Given the description of an element on the screen output the (x, y) to click on. 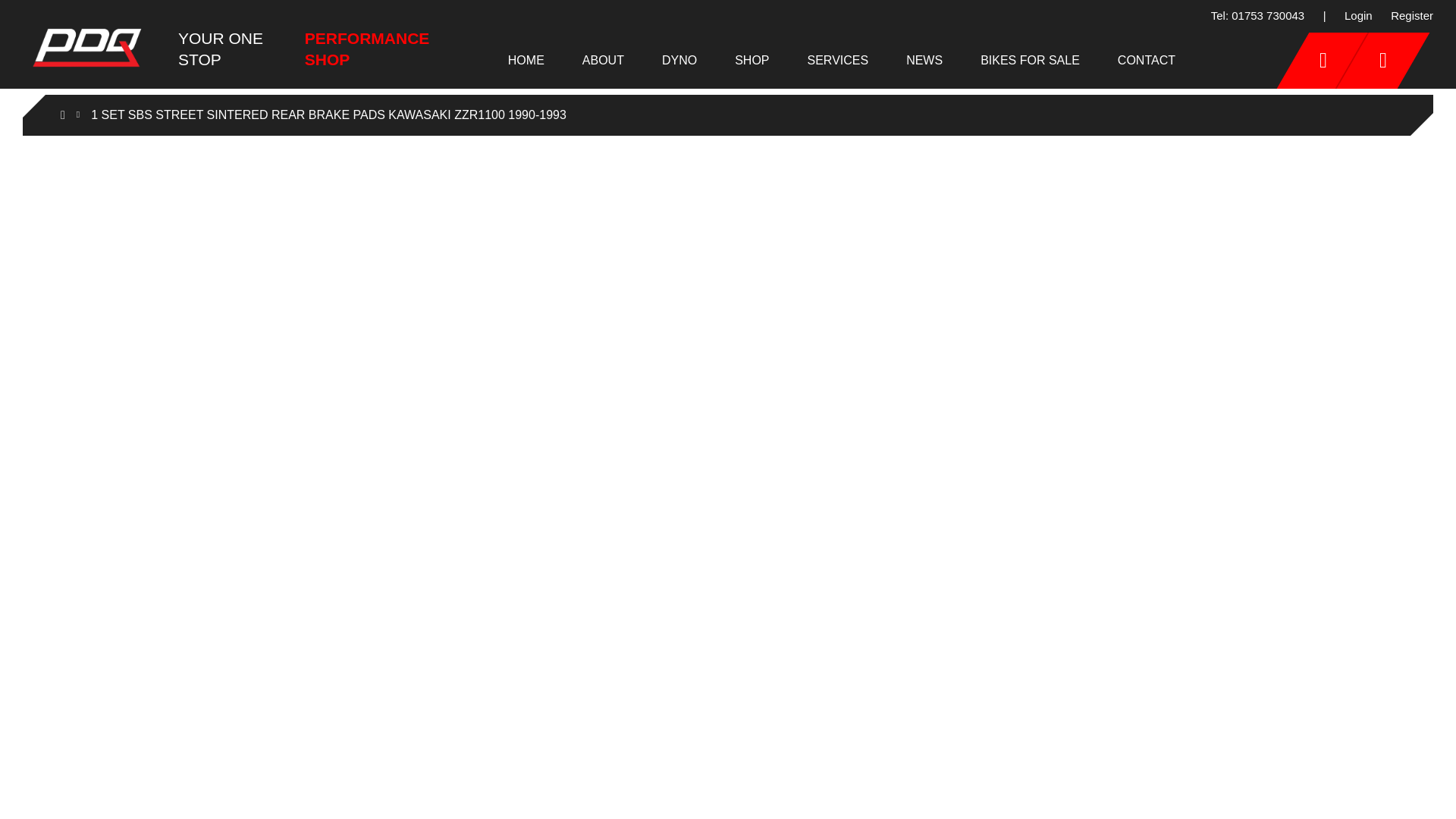
BIKES FOR SALE (1029, 59)
SERVICES (838, 59)
Register (1411, 16)
ABOUT (603, 59)
HOME (526, 59)
DYNO (679, 59)
NEWS (923, 59)
SHOP (751, 59)
CONTACT (1146, 59)
